Given the description of an element on the screen output the (x, y) to click on. 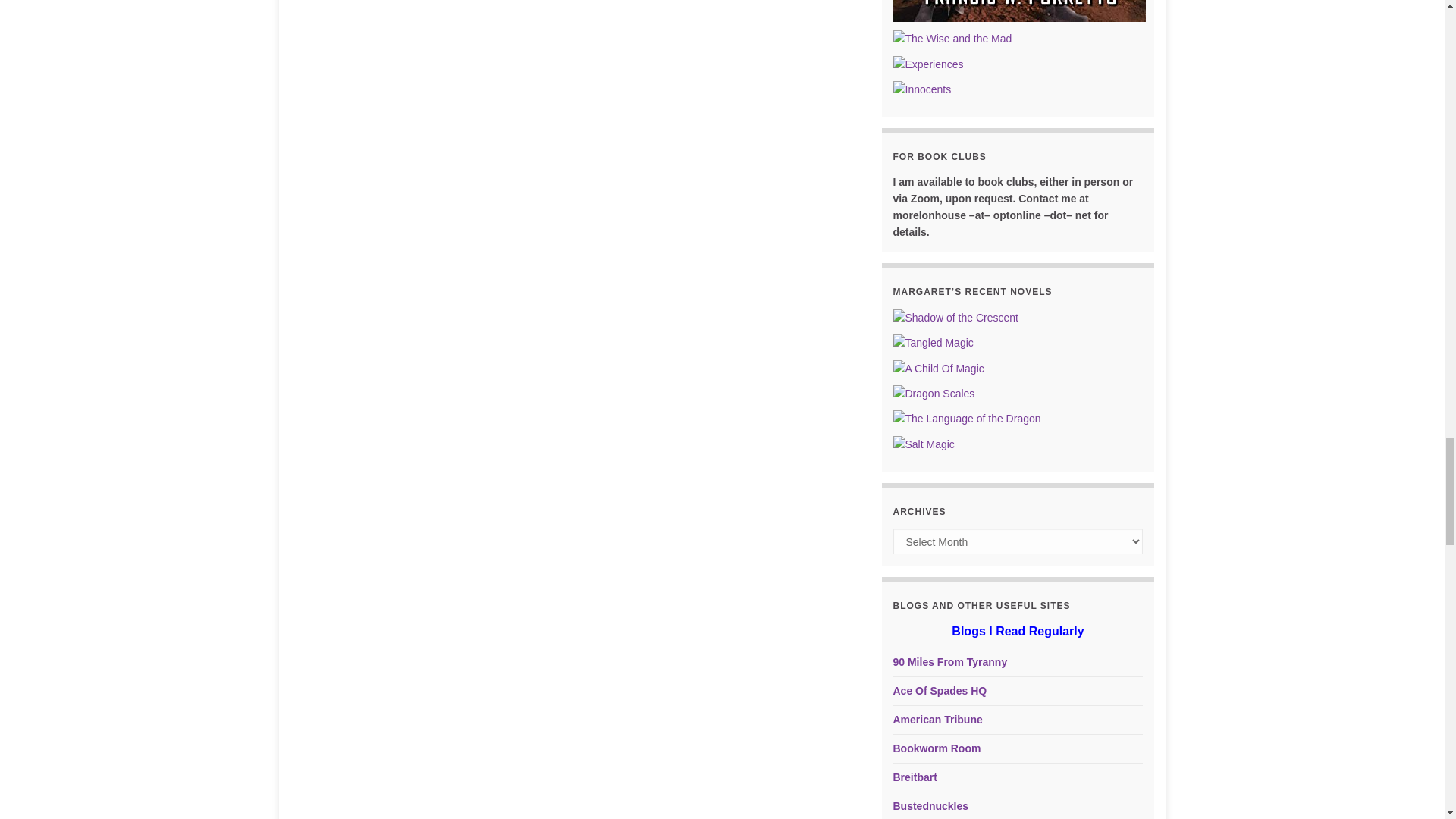
90 Miles From Tyranny (950, 662)
Breitbart (915, 776)
Bustednuckles (931, 806)
Ace Of Spades HQ (940, 690)
Bookworm Room (937, 748)
American Tribune (937, 719)
